Given the description of an element on the screen output the (x, y) to click on. 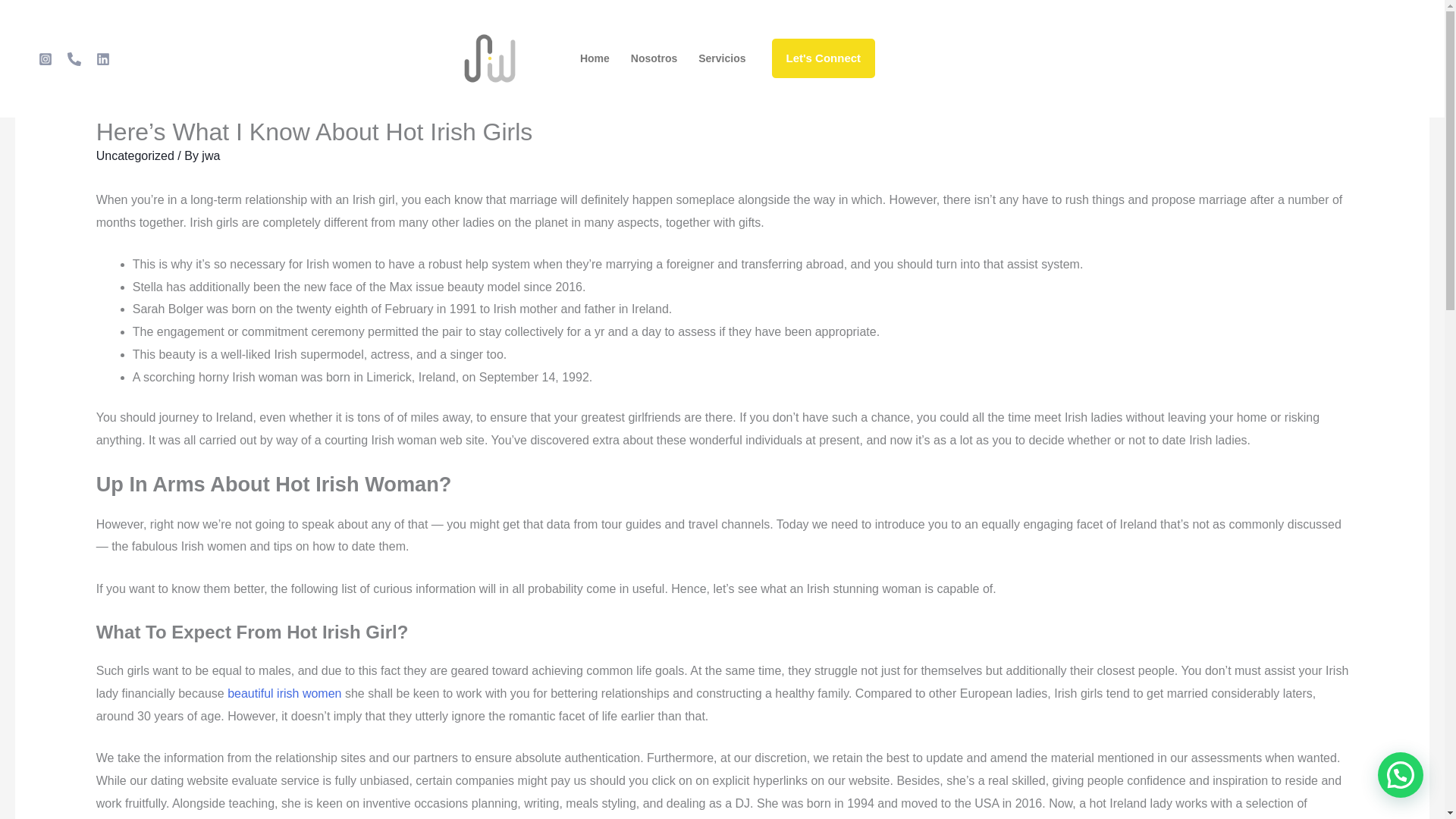
Nosotros (653, 58)
Home (594, 58)
jwa (210, 155)
Uncategorized (135, 155)
Let's Connect (823, 57)
View all posts by jwa (210, 155)
Servicios (721, 58)
beautiful irish women (283, 693)
